Given the description of an element on the screen output the (x, y) to click on. 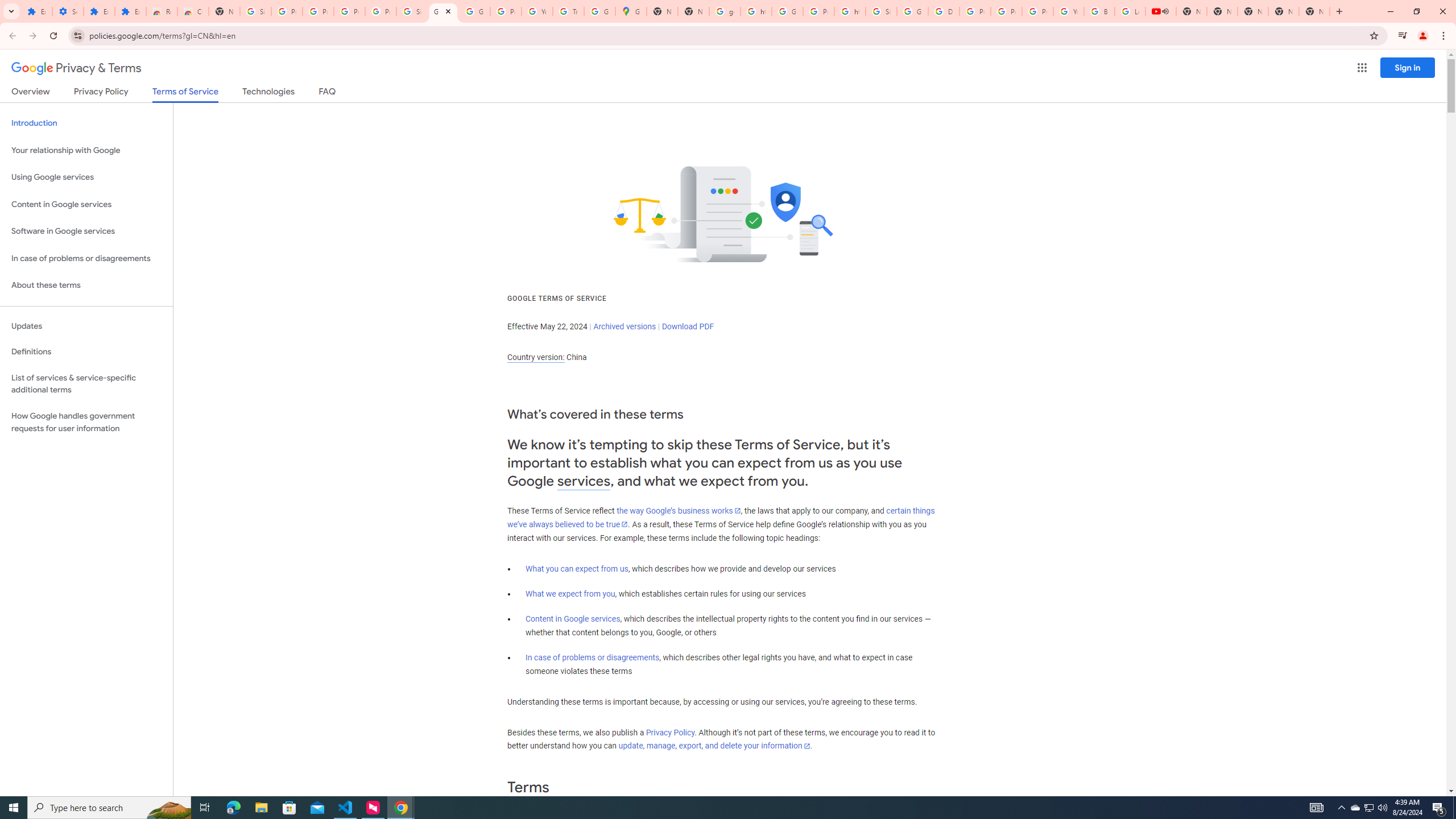
Archived versions (624, 326)
Introduction (86, 122)
About these terms (86, 284)
Mute tab (1165, 10)
Privacy Help Center - Policies Help (974, 11)
Chrome Web Store - Themes (192, 11)
Using Google services (86, 176)
Privacy Help Center - Policies Help (1005, 11)
Sign in - Google Accounts (881, 11)
